Given the description of an element on the screen output the (x, y) to click on. 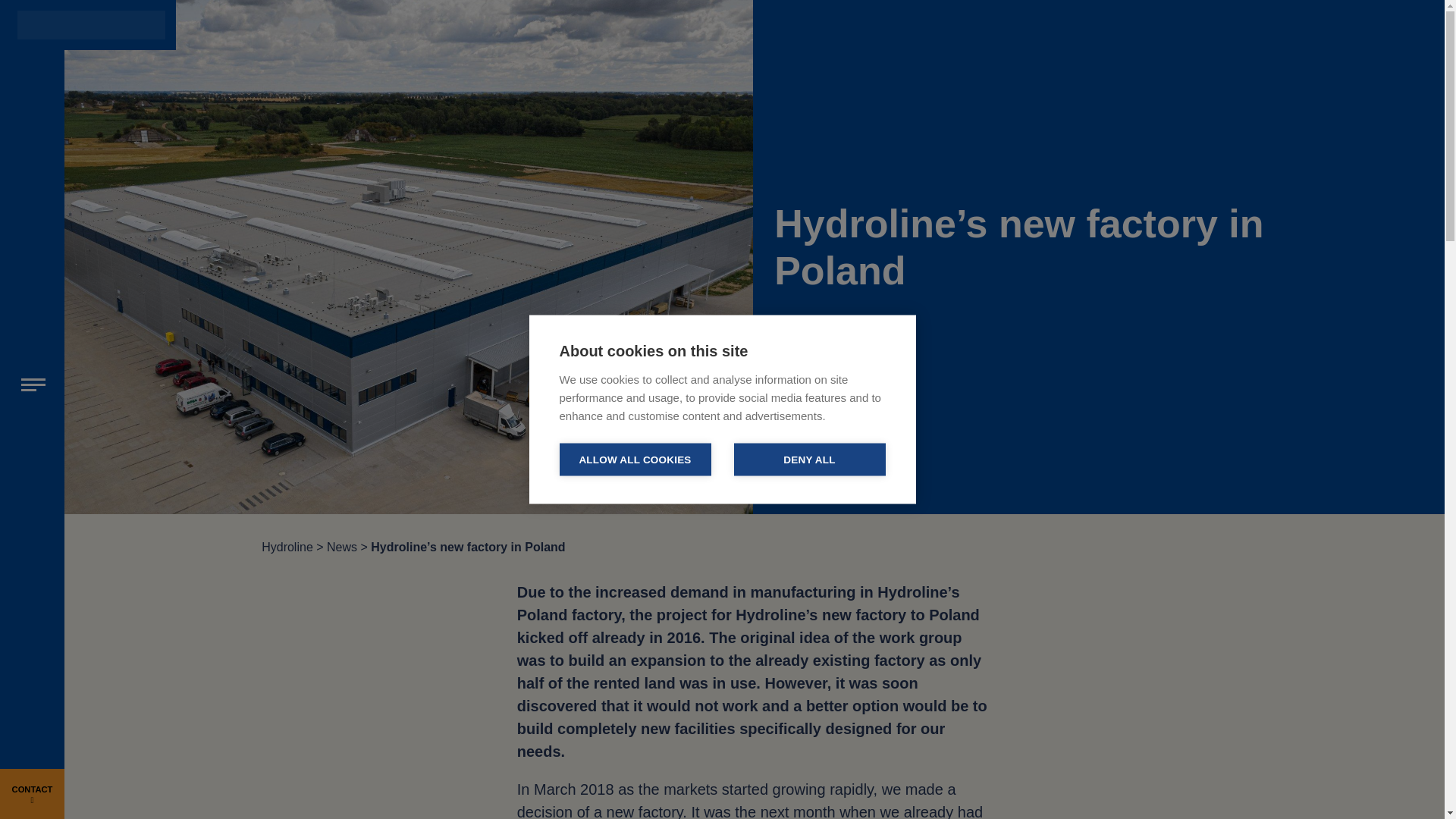
Go to Hydroline. (287, 546)
Go to the News Category archives. (341, 546)
DENY ALL (809, 459)
ALLOW ALL COOKIES (635, 459)
